Given the description of an element on the screen output the (x, y) to click on. 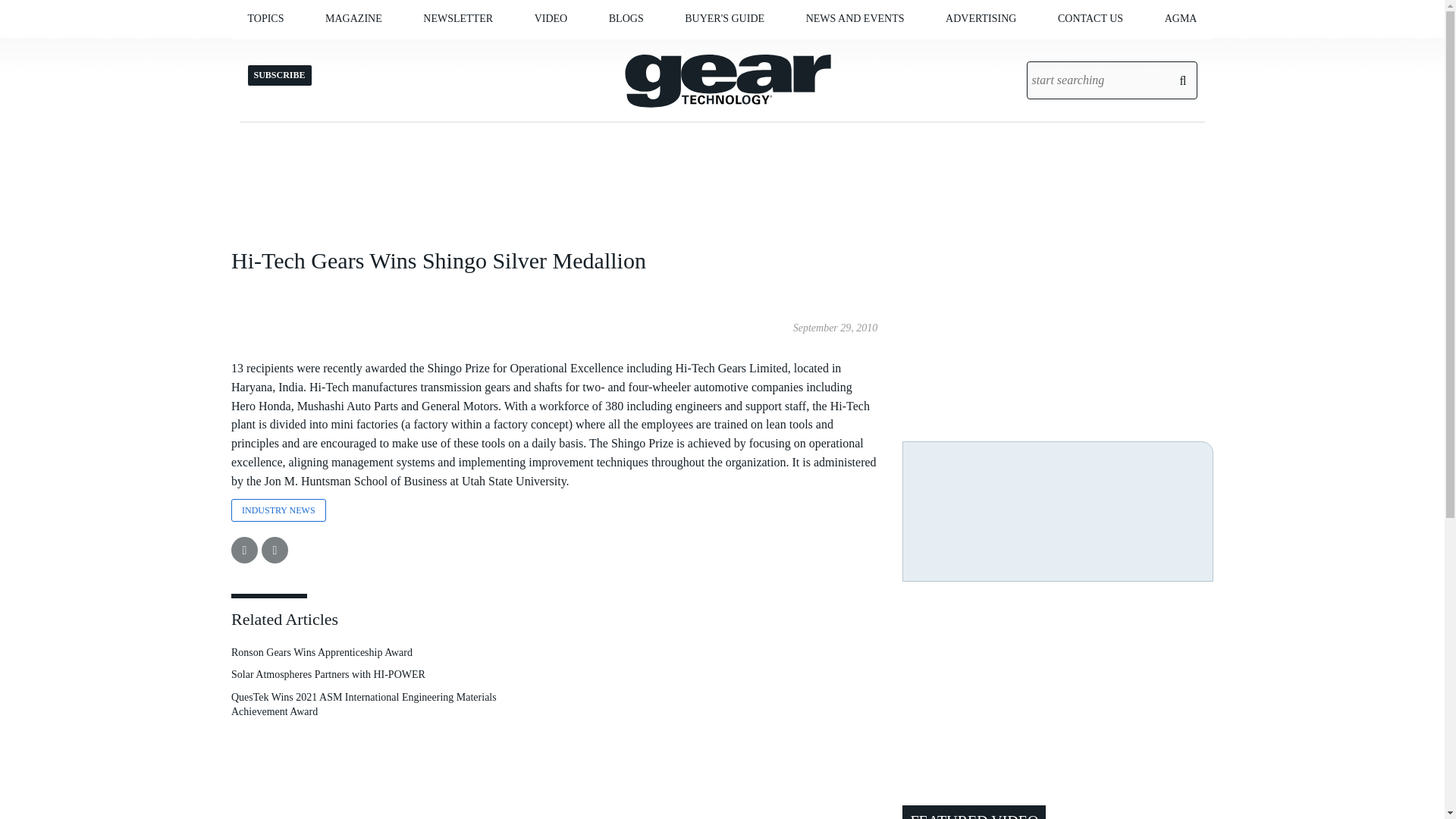
PRODUCT NEWS (882, 50)
SUBSCRIBE (416, 50)
SUBSCRIBE (499, 50)
MAGAZINE (352, 18)
ARCHIVES (411, 50)
BUYER'S GUIDE (724, 18)
INDUSTRY NEWS (886, 50)
ADVERTISING (980, 18)
GEARS BY TYPE (352, 50)
BLOGS (625, 18)
